Given the description of an element on the screen output the (x, y) to click on. 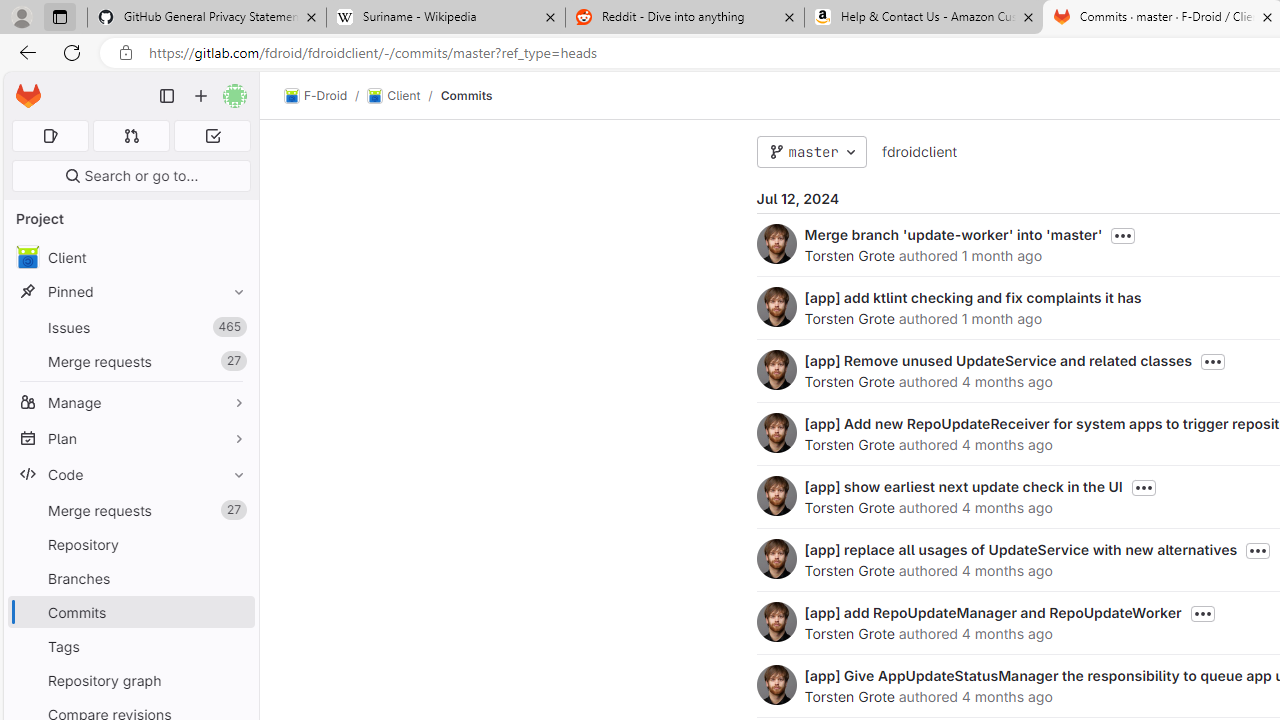
Issues 465 (130, 327)
Pin Tags (234, 646)
Create new... (201, 96)
Skip to main content (23, 87)
Repository graph (130, 679)
Repository (130, 543)
Tags (130, 646)
Client (130, 257)
Repository (130, 543)
Class: s16 gl-icon gl-button-icon  (1202, 614)
Refresh (72, 52)
Branches (130, 578)
View site information (125, 53)
Close tab (1267, 16)
Pinned (130, 291)
